Given the description of an element on the screen output the (x, y) to click on. 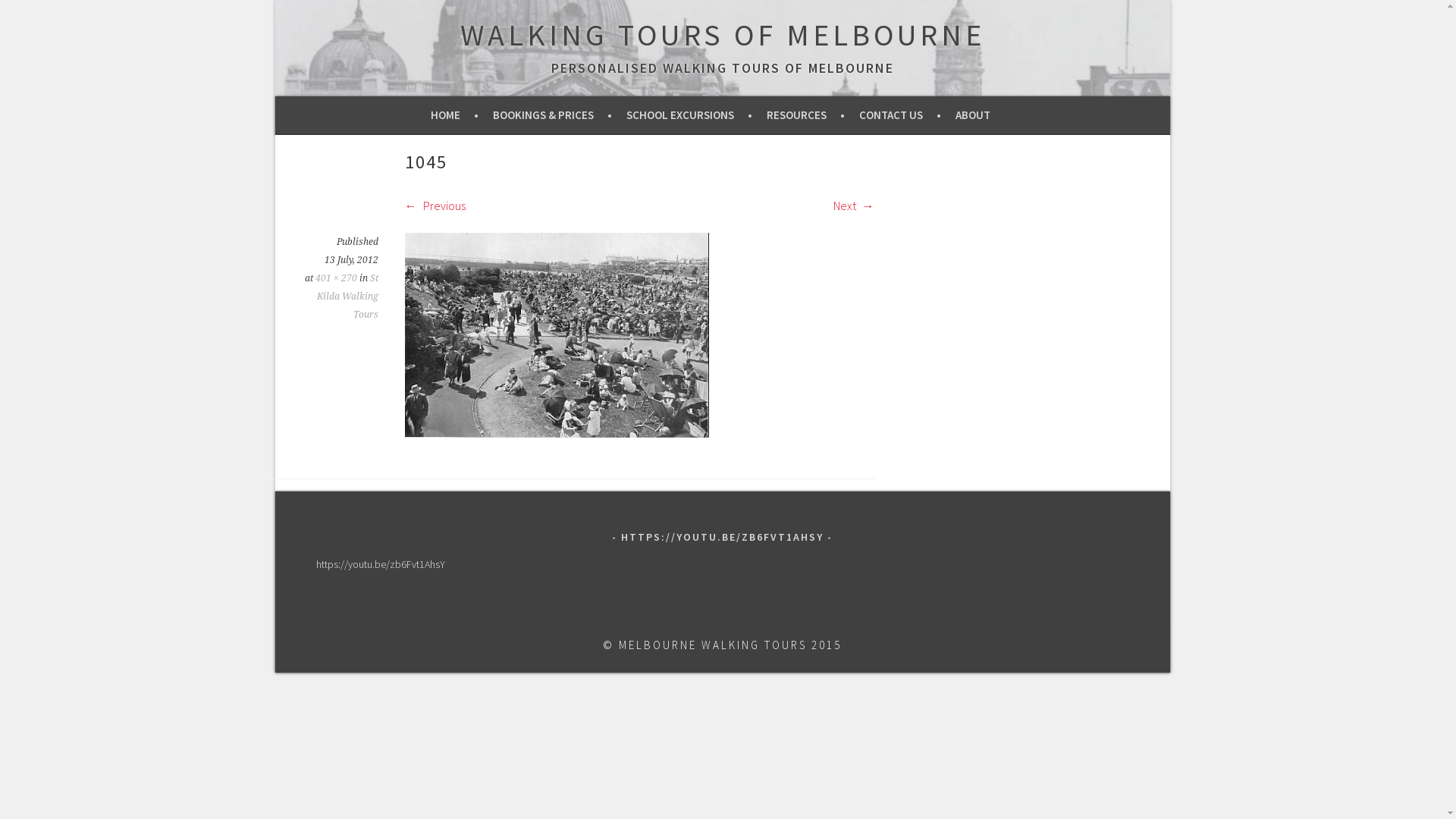
St Kilda Walking Tours Element type: text (347, 296)
BOOKINGS & PRICES Element type: text (551, 115)
RESOURCES Element type: text (805, 115)
1045 Element type: hover (556, 432)
WALKING TOURS OF MELBOURNE Element type: text (721, 34)
ABOUT Element type: text (978, 115)
HOME Element type: text (454, 115)
SCHOOL EXCURSIONS Element type: text (689, 115)
Previous Element type: text (434, 205)
Next Element type: text (852, 205)
CONTACT US Element type: text (900, 115)
